Given the description of an element on the screen output the (x, y) to click on. 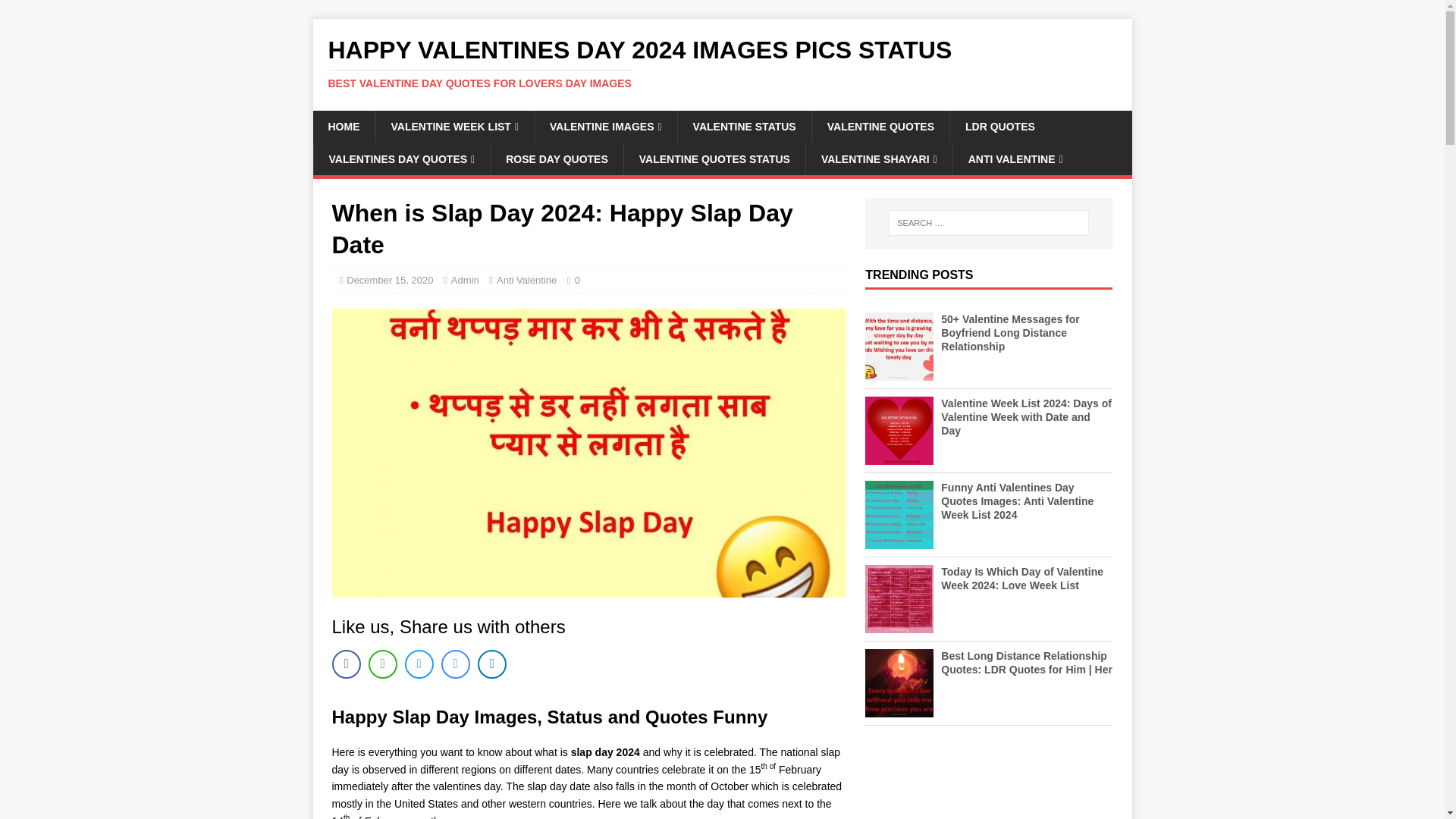
HOME (343, 126)
Happy Valentines Day 2024 Images Pics Status (721, 63)
VALENTINE WEEK LIST (454, 126)
